Given the description of an element on the screen output the (x, y) to click on. 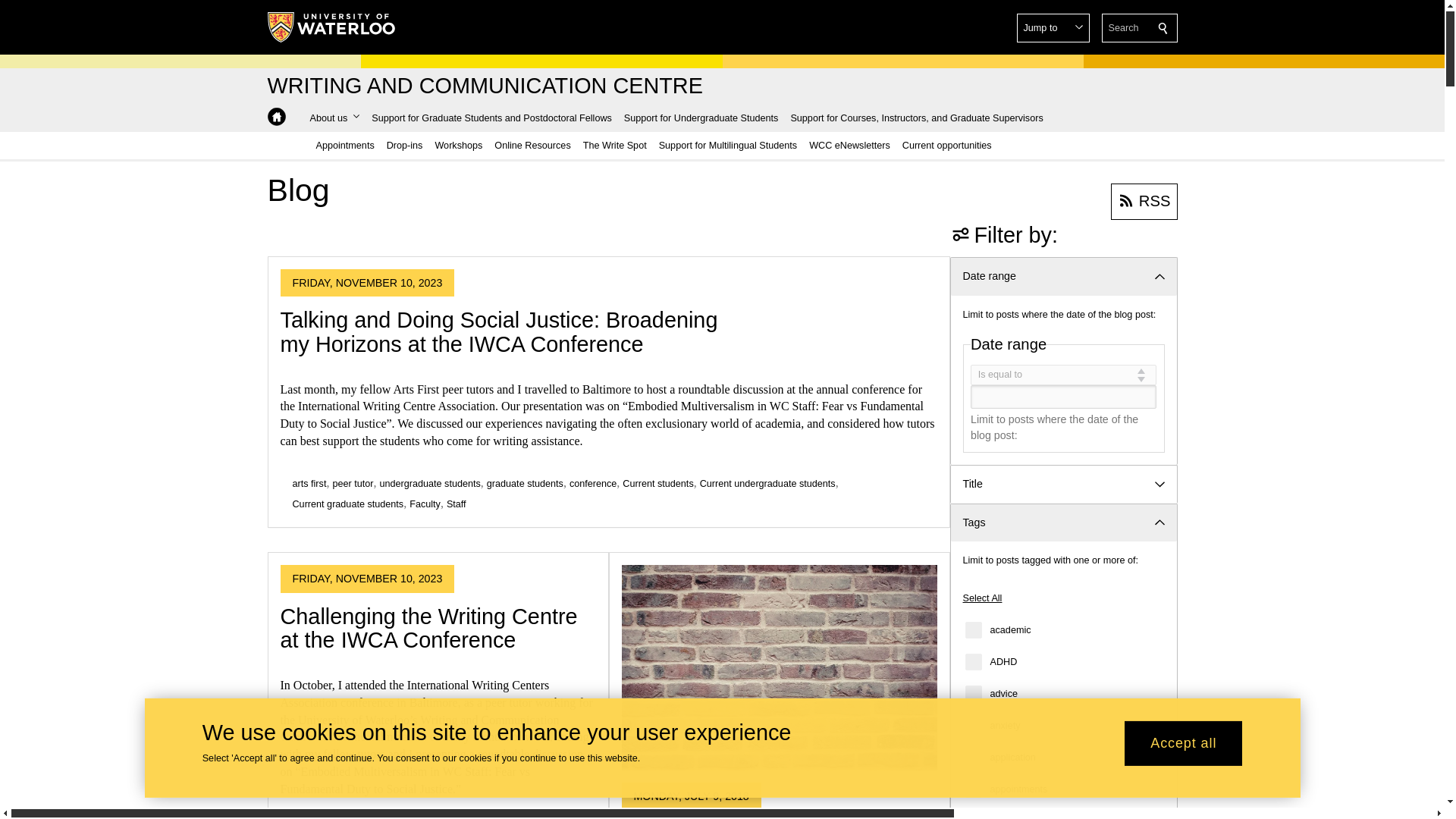
The Write Spot (614, 144)
Online Resources (531, 144)
Current opportunities (946, 144)
Writing and Communication Centre Home (275, 116)
Workshops (457, 144)
Appointments (344, 144)
Select All (982, 598)
Drop-ins (404, 144)
Writing and Communication Centre Home (275, 116)
